Given the description of an element on the screen output the (x, y) to click on. 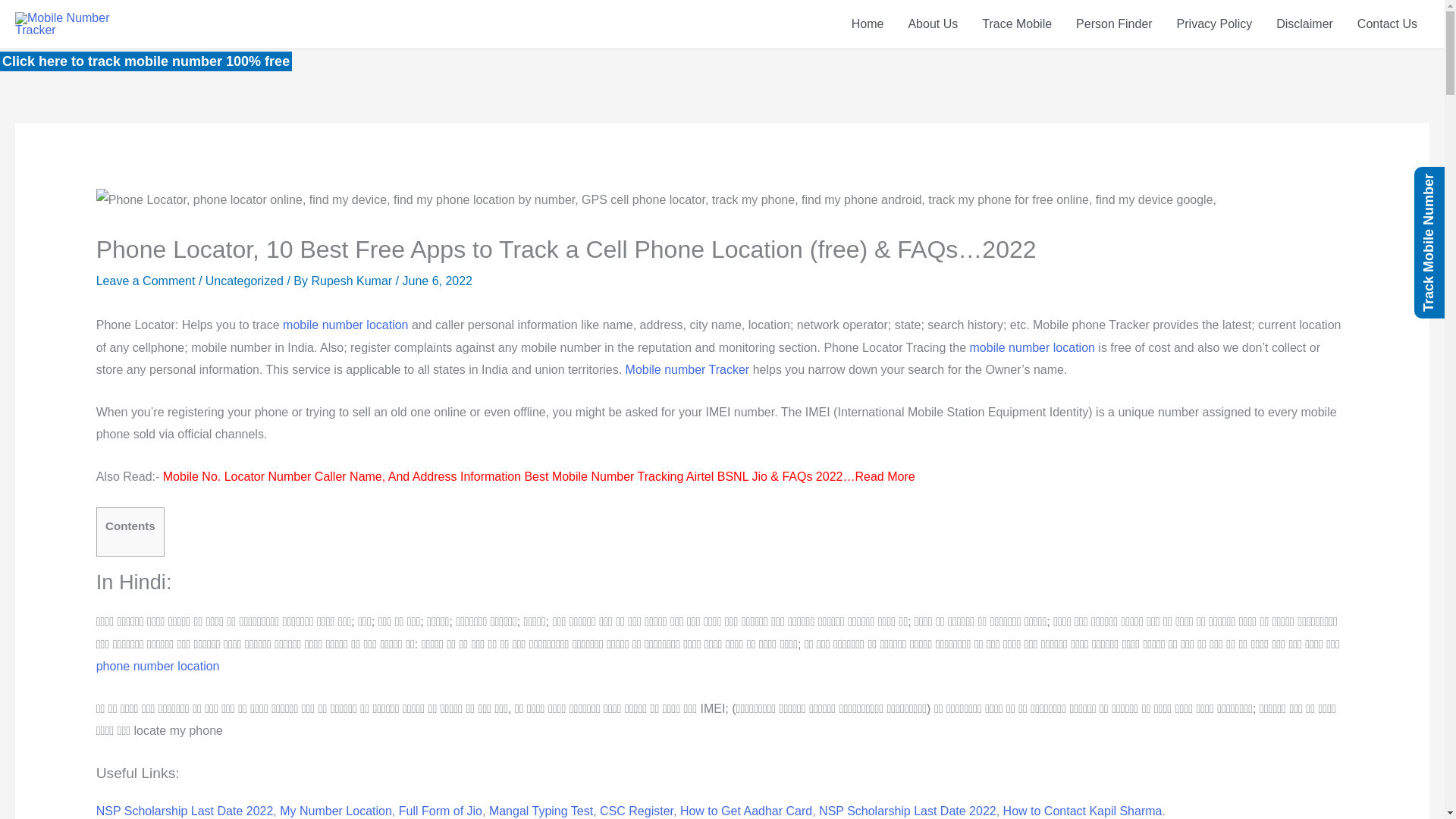
Disclaimer (1304, 24)
Person Finder (1114, 24)
mobile number location (344, 324)
View all posts by Rupesh Kumar (352, 280)
CSC Register (635, 810)
phone number location (157, 666)
Click the link to check more about Track Mobile Phone (1031, 347)
Click the link to check more about Mobile Number Tracker (687, 369)
Mobile number Tracker (687, 369)
Click the link to check more about Track Mobile Phone (344, 324)
